Given the description of an element on the screen output the (x, y) to click on. 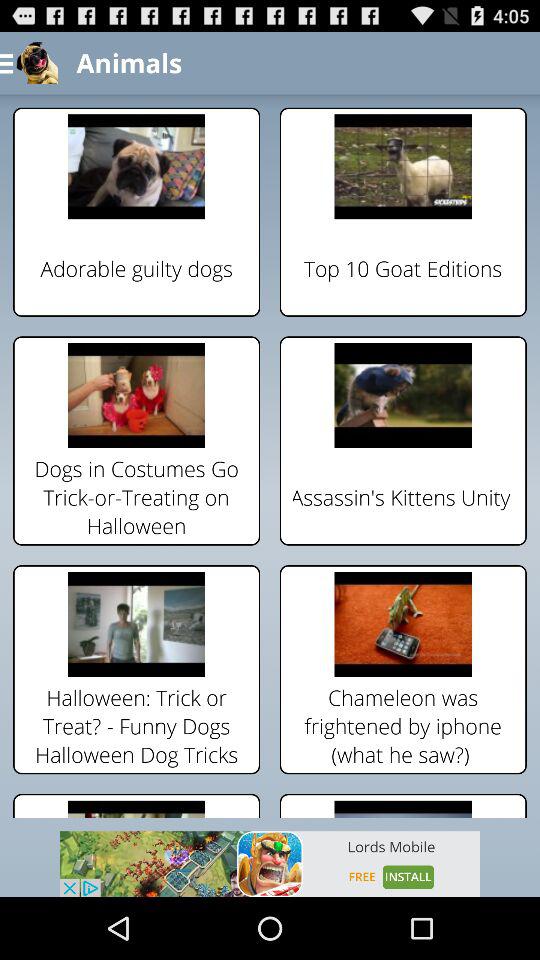
view advertisement (270, 864)
